Given the description of an element on the screen output the (x, y) to click on. 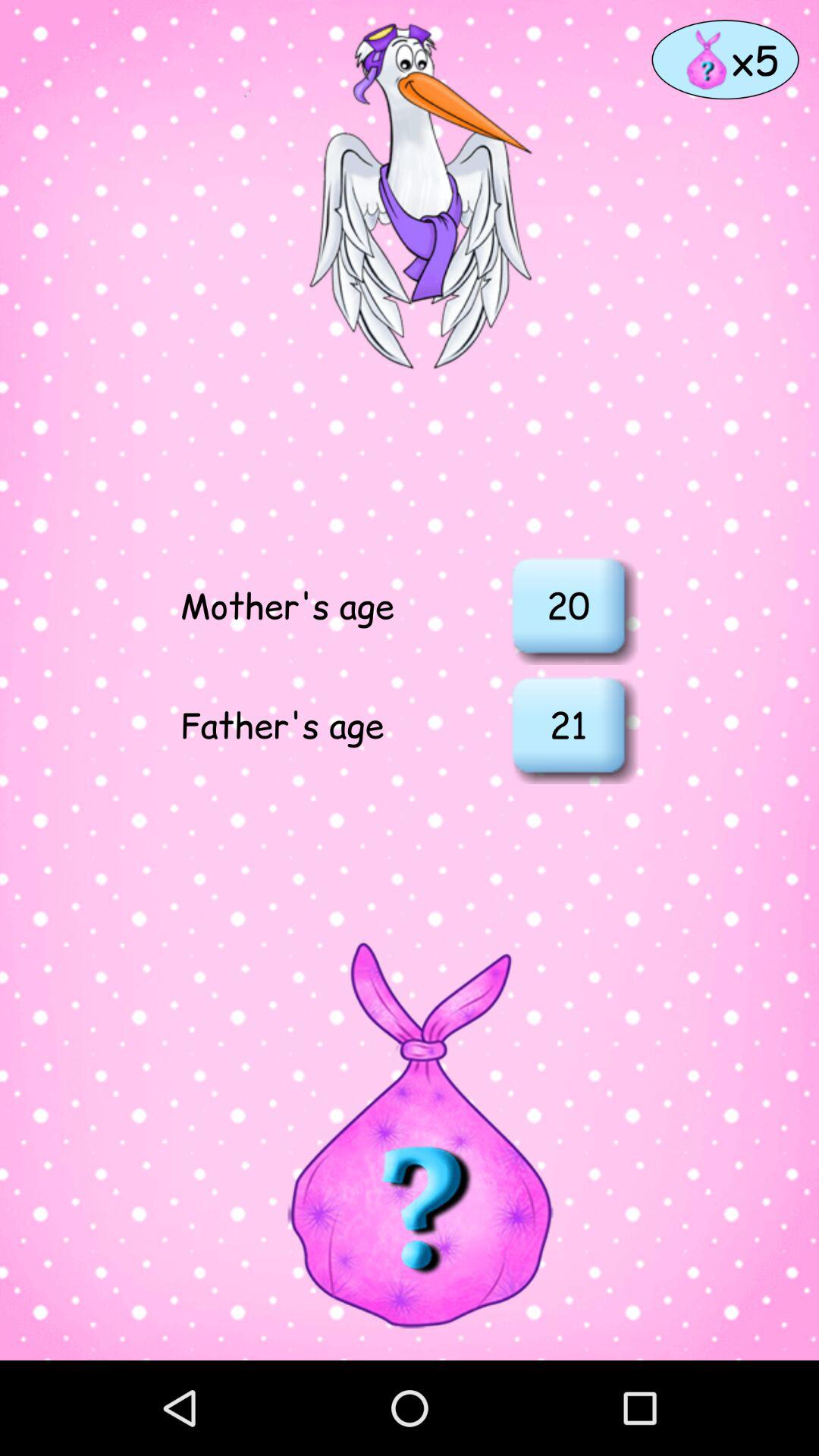
press the 21 icon (568, 724)
